Given the description of an element on the screen output the (x, y) to click on. 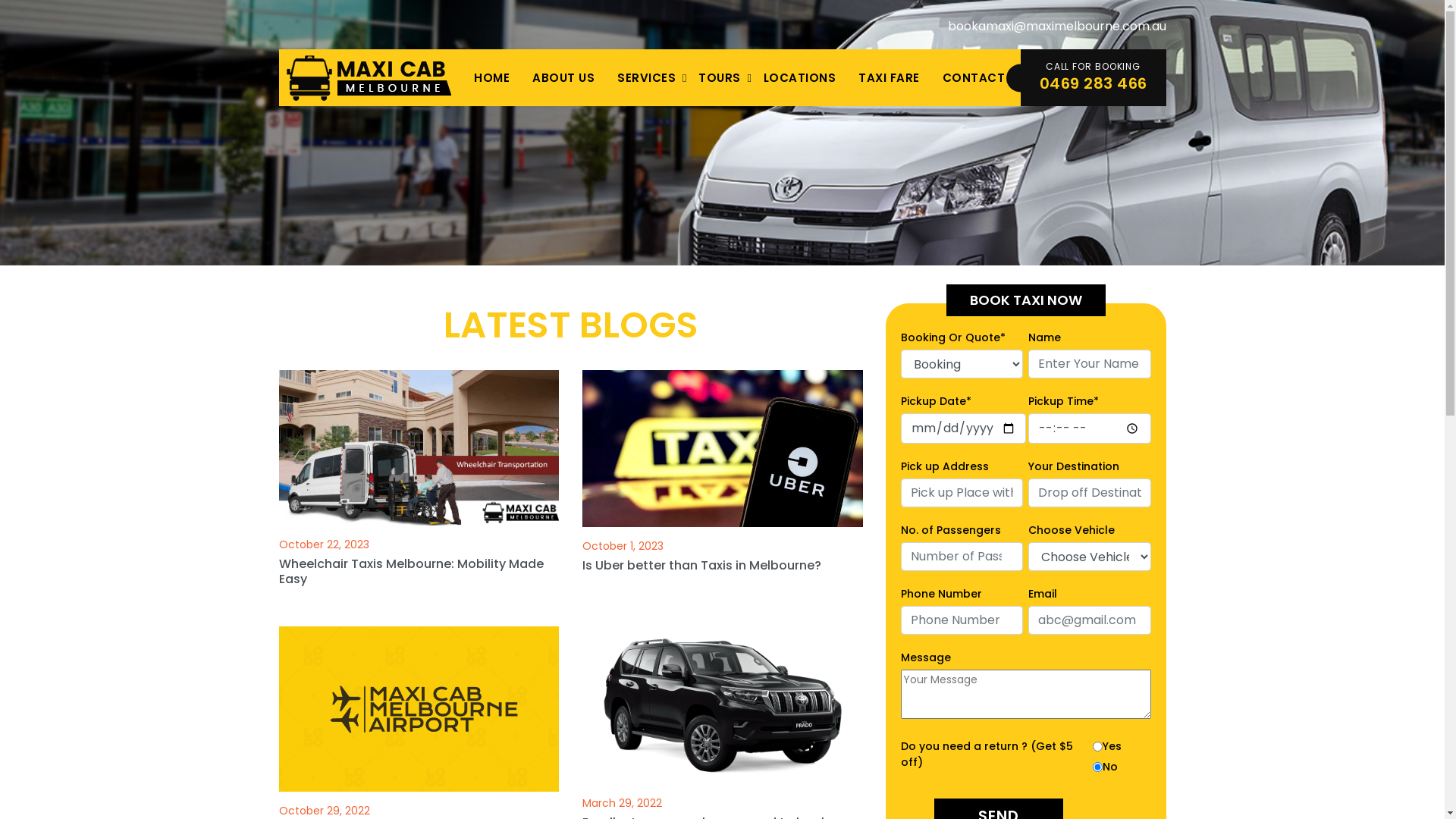
LOCATIONS Element type: text (799, 77)
SERVICES Element type: text (646, 77)
TOURS Element type: text (719, 77)
ABOUT US Element type: text (562, 77)
TAXI FARE Element type: text (889, 77)
HOME Element type: text (491, 77)
0469 283 466 Element type: text (1092, 83)
bookamaxi@maximelbourne.com.au Element type: text (1056, 25)
CONTACT Element type: text (973, 77)
